Given the description of an element on the screen output the (x, y) to click on. 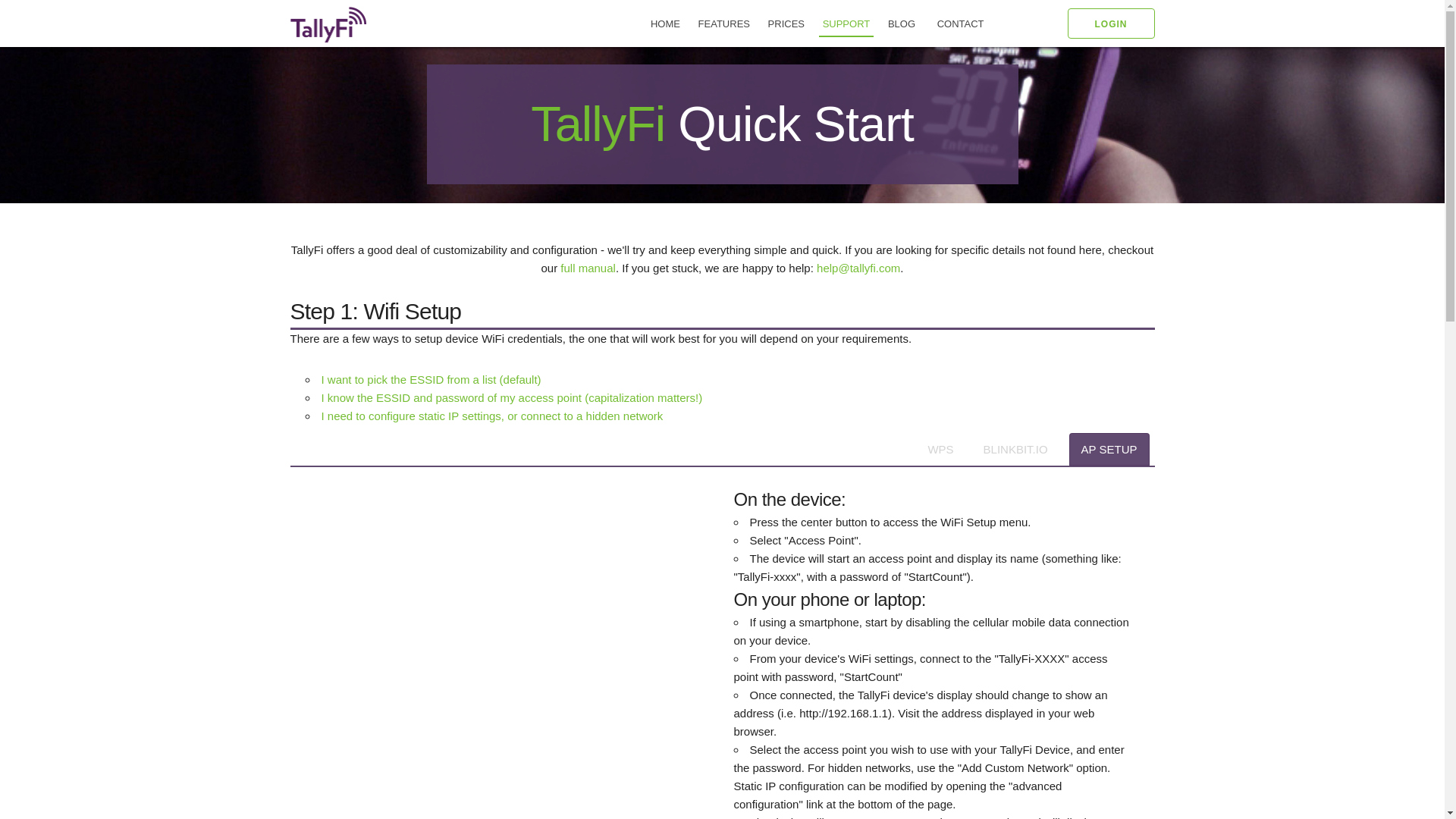
HOME (665, 24)
CONTACT (960, 24)
LOGIN (1110, 23)
WPS (940, 448)
BLOG (900, 24)
AP SETUP (1109, 448)
FEATURES (724, 24)
SUPPORT (846, 24)
PRICES (786, 24)
